Given the description of an element on the screen output the (x, y) to click on. 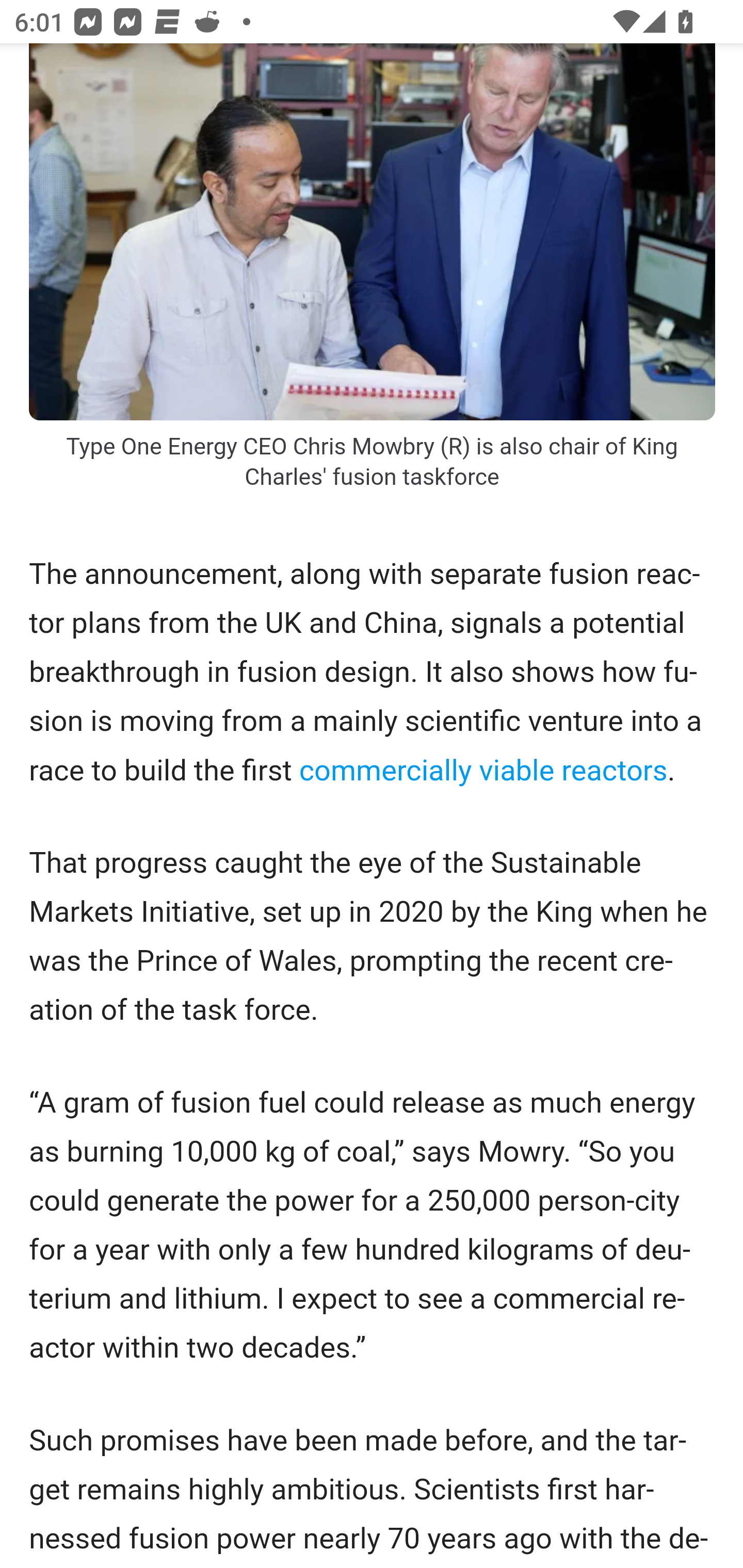
commercially viable reactors (482, 770)
